Given the description of an element on the screen output the (x, y) to click on. 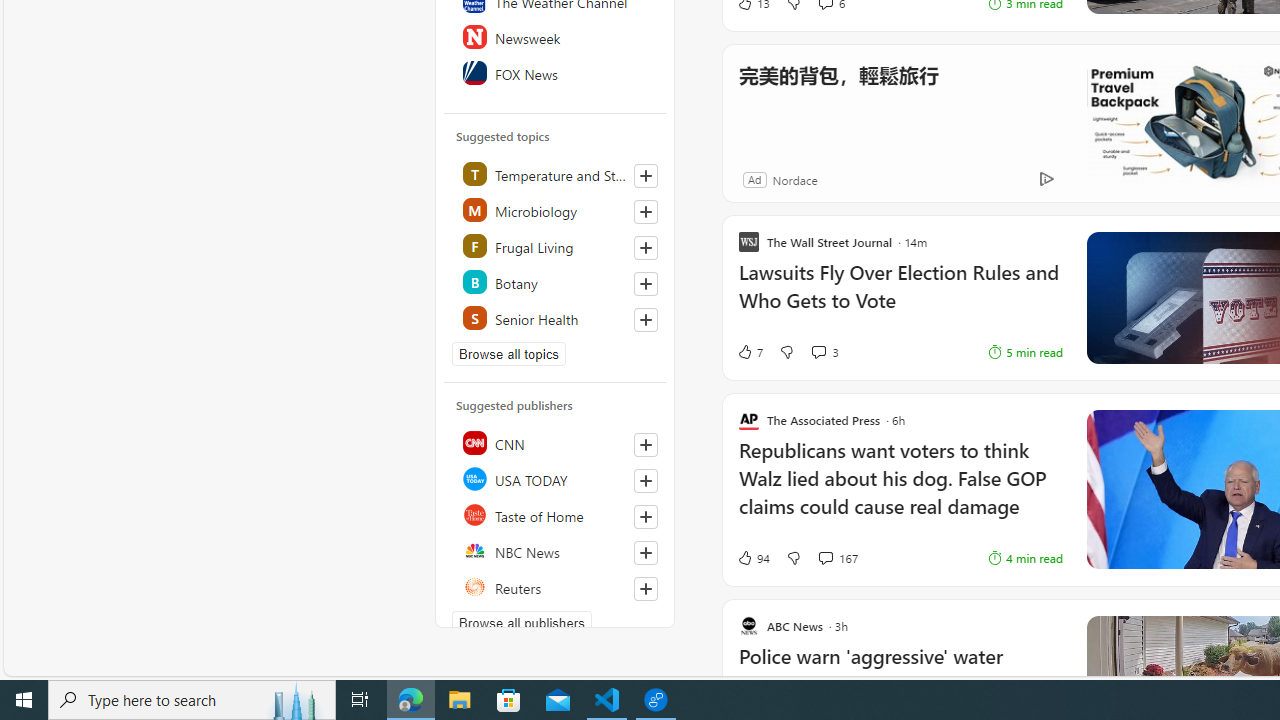
Ad Choice (1046, 179)
View comments 3 Comment (824, 351)
Reuters (556, 586)
7 Like (749, 351)
Follow this topic (645, 319)
FOX News (556, 72)
View comments 167 Comment (825, 557)
Dislike (793, 557)
View comments 3 Comment (818, 352)
94 Like (753, 557)
NBC News (556, 550)
Ad (754, 179)
